Given the description of an element on the screen output the (x, y) to click on. 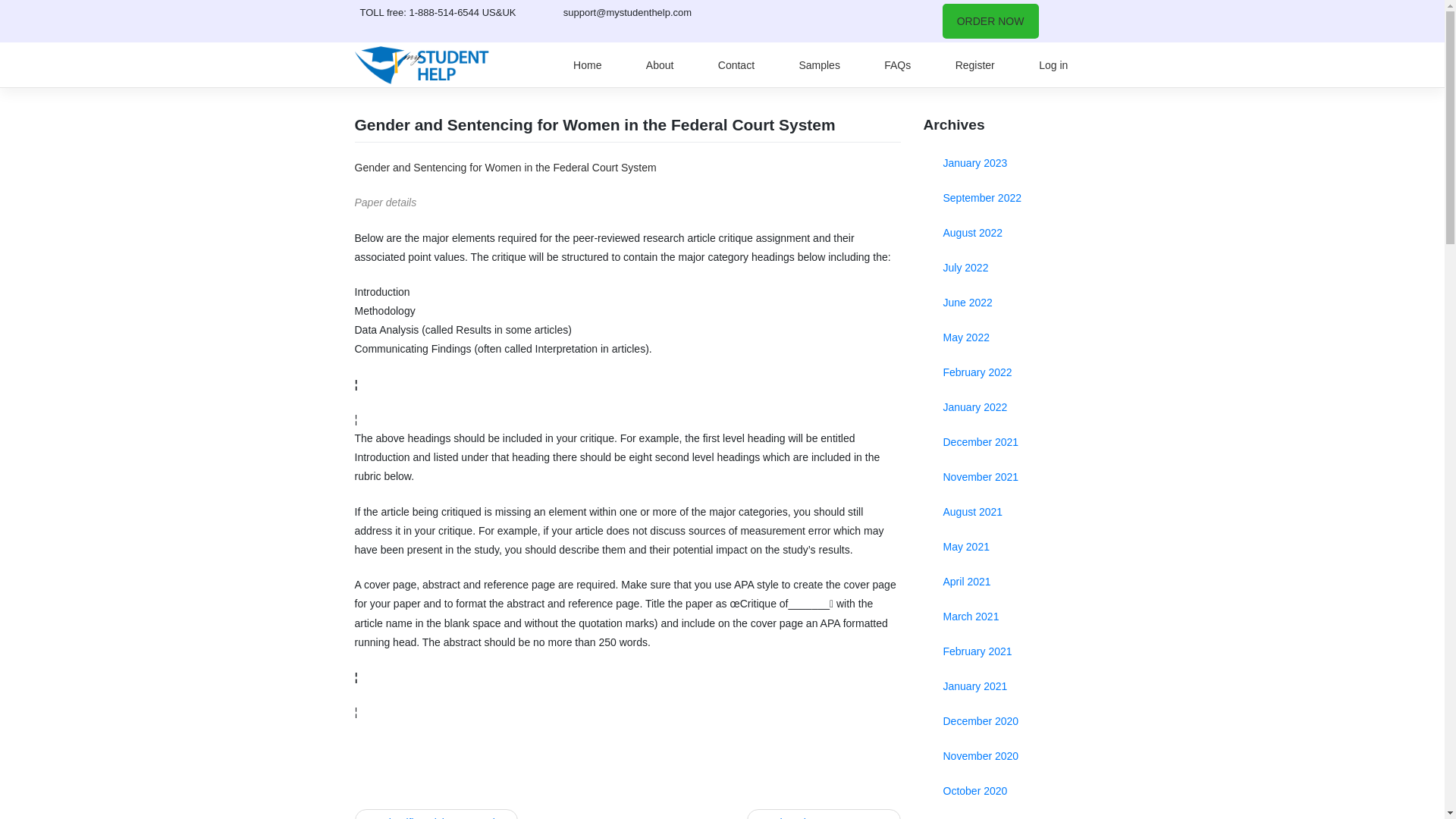
Scientific article preparation (436, 814)
May 2021 (1007, 546)
Samples (819, 64)
FAQs (896, 64)
FAQs (896, 64)
About (659, 64)
August 2022 (1007, 232)
ORDER NOW (990, 21)
Home (587, 64)
December 2021 (1007, 442)
